Given the description of an element on the screen output the (x, y) to click on. 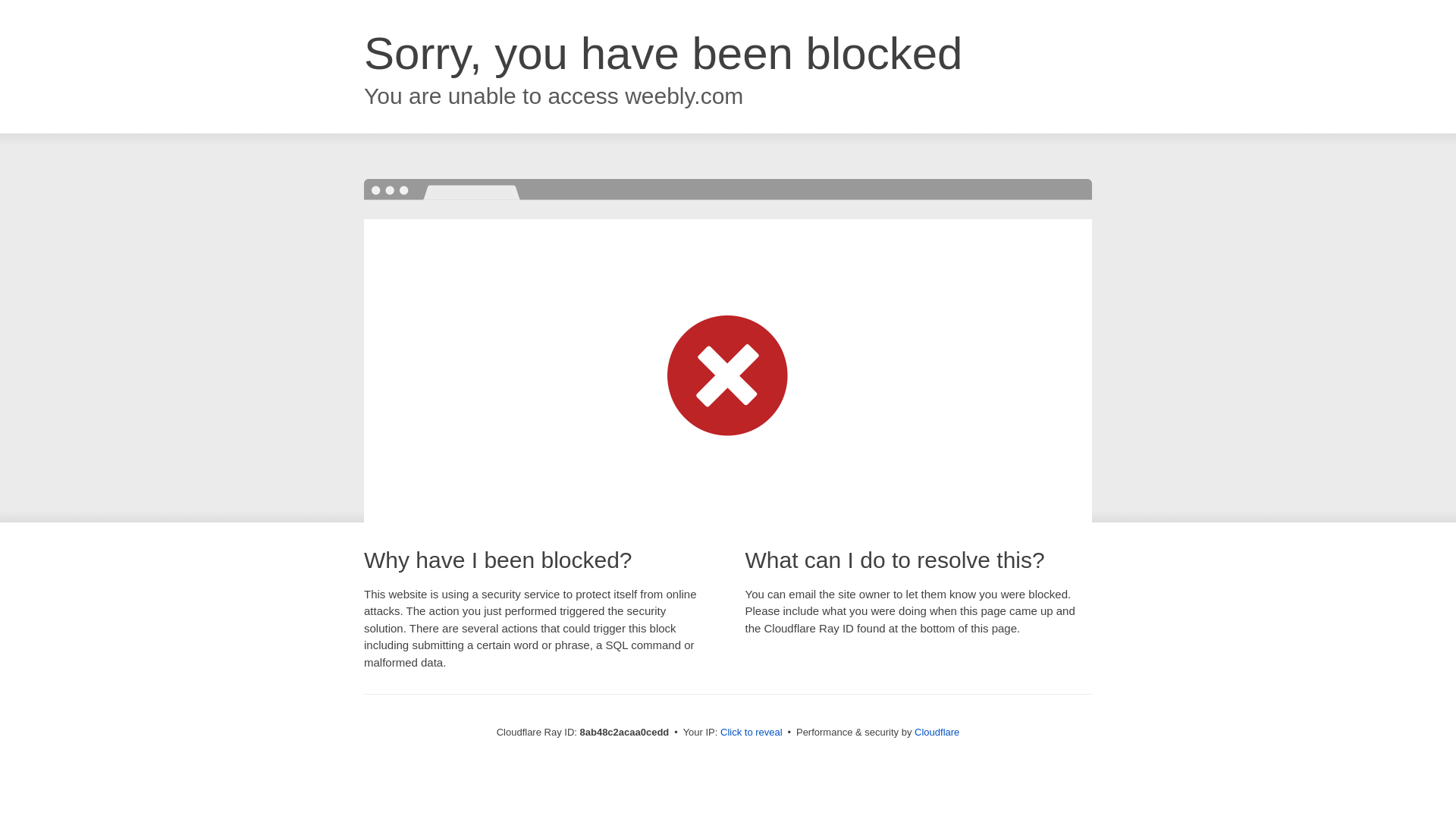
Click to reveal (751, 732)
Cloudflare (936, 731)
